Given the description of an element on the screen output the (x, y) to click on. 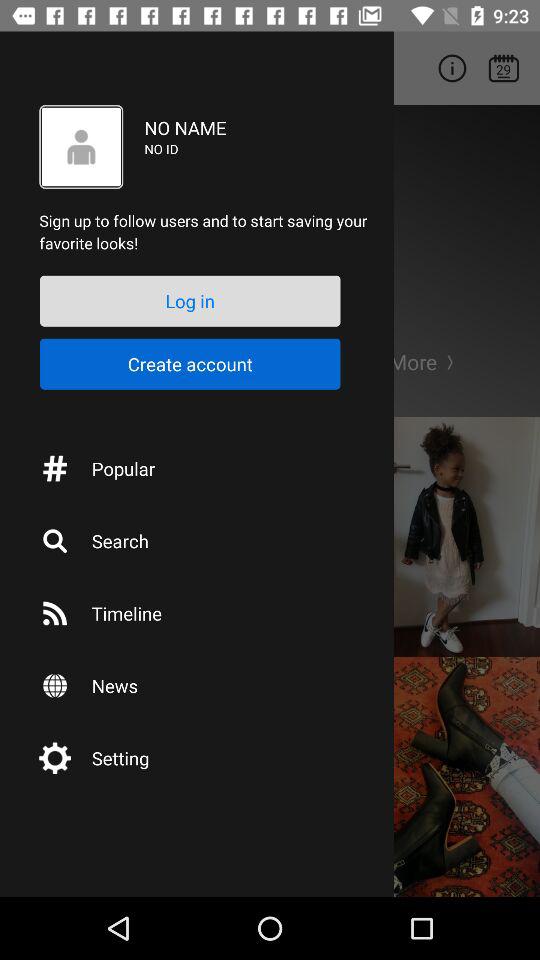
select the first image on the web page (450, 536)
